Given the description of an element on the screen output the (x, y) to click on. 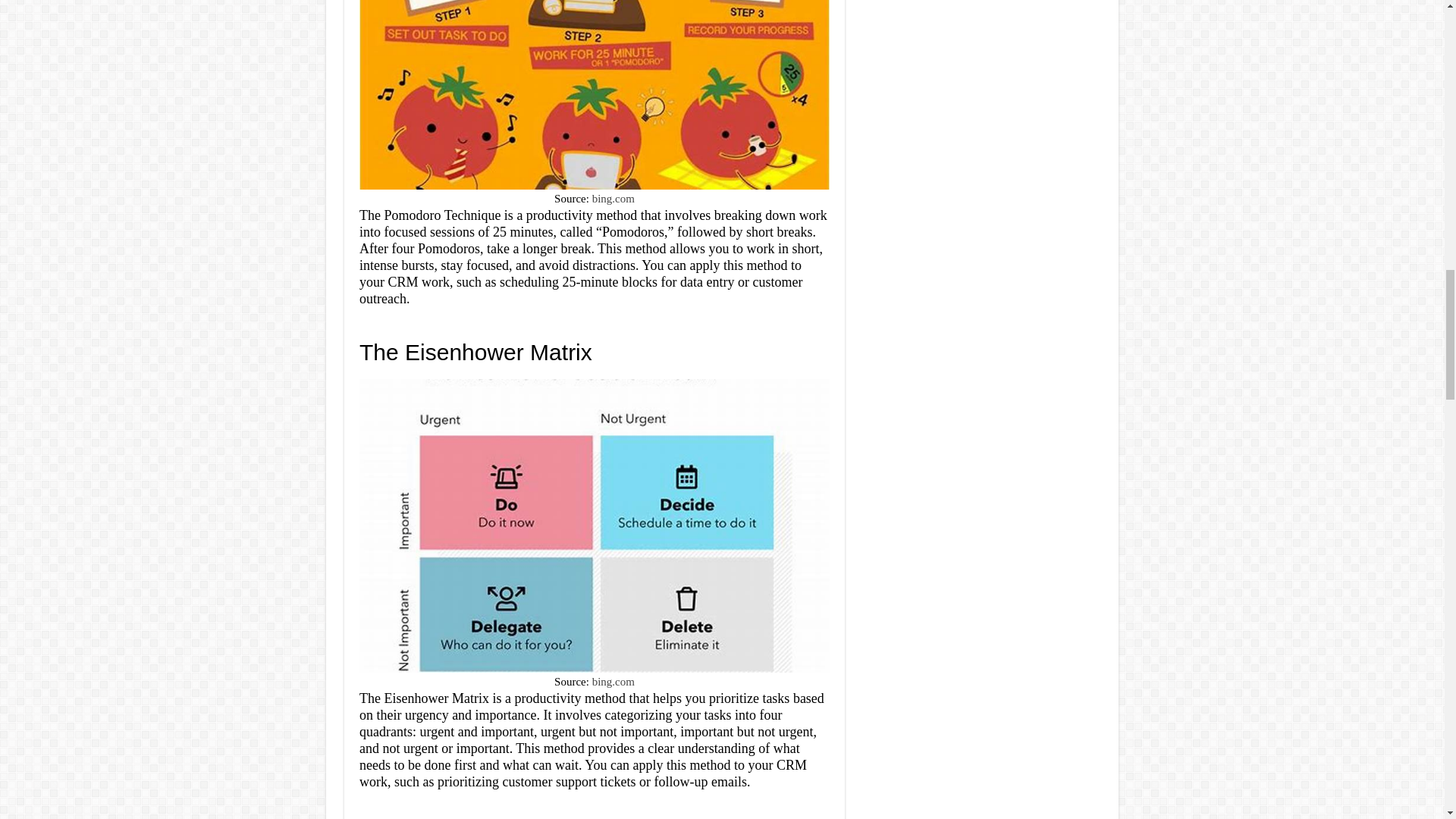
bing.com (613, 681)
bing.com (613, 198)
